Given the description of an element on the screen output the (x, y) to click on. 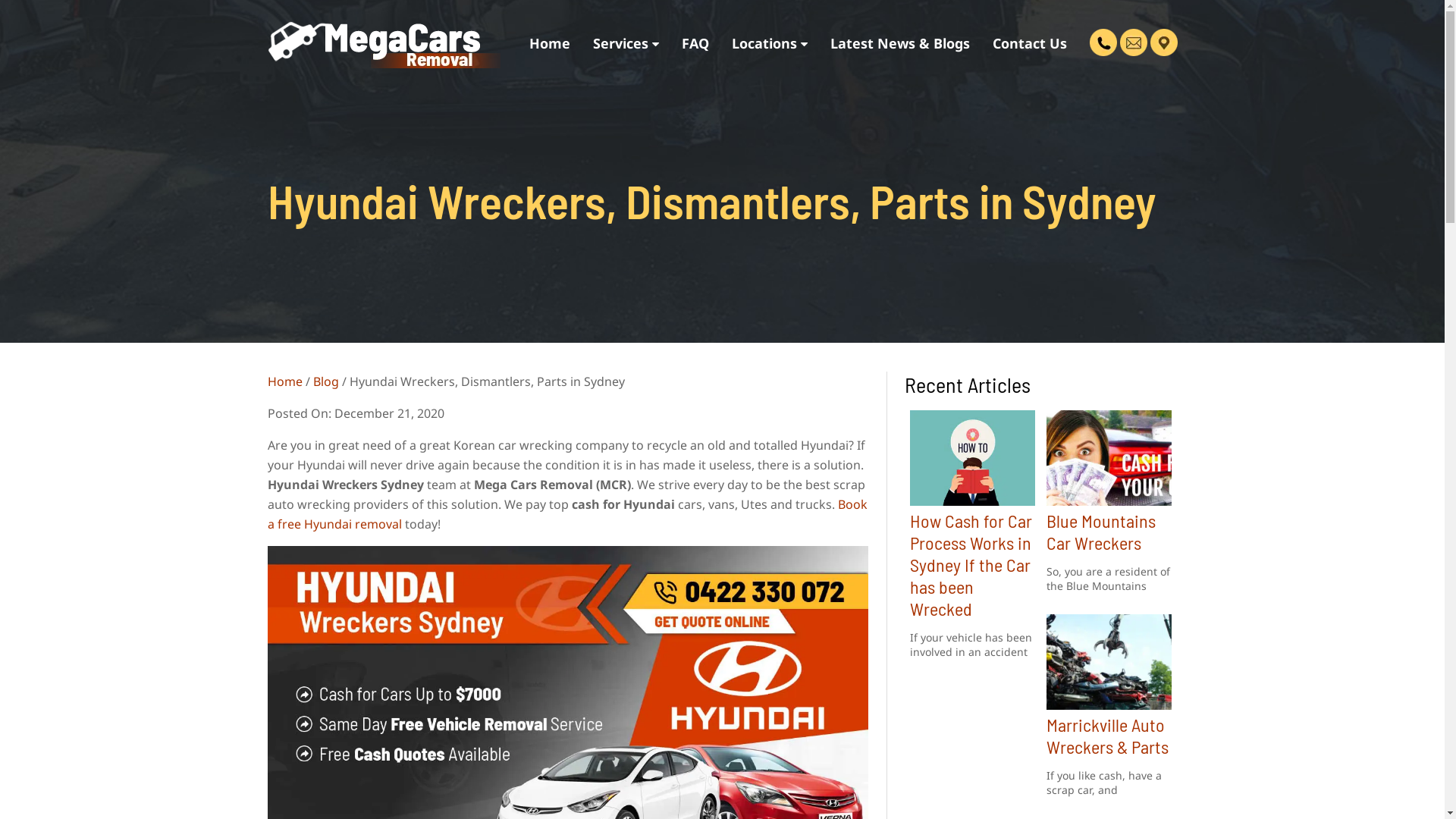
Marrickville Auto Wreckers & Parts Element type: text (1107, 735)
Book a free Hyundai removal Element type: text (566, 513)
Home Element type: text (548, 43)
Blue Mountains Car Wreckers Element type: text (1100, 531)
FAQ Element type: text (695, 43)
Locations Element type: text (769, 43)
Home Element type: text (283, 381)
Blog Element type: text (325, 381)
Contact Us Element type: text (1029, 43)
Latest News & Blogs Element type: text (900, 43)
Services Element type: text (624, 43)
